Given the description of an element on the screen output the (x, y) to click on. 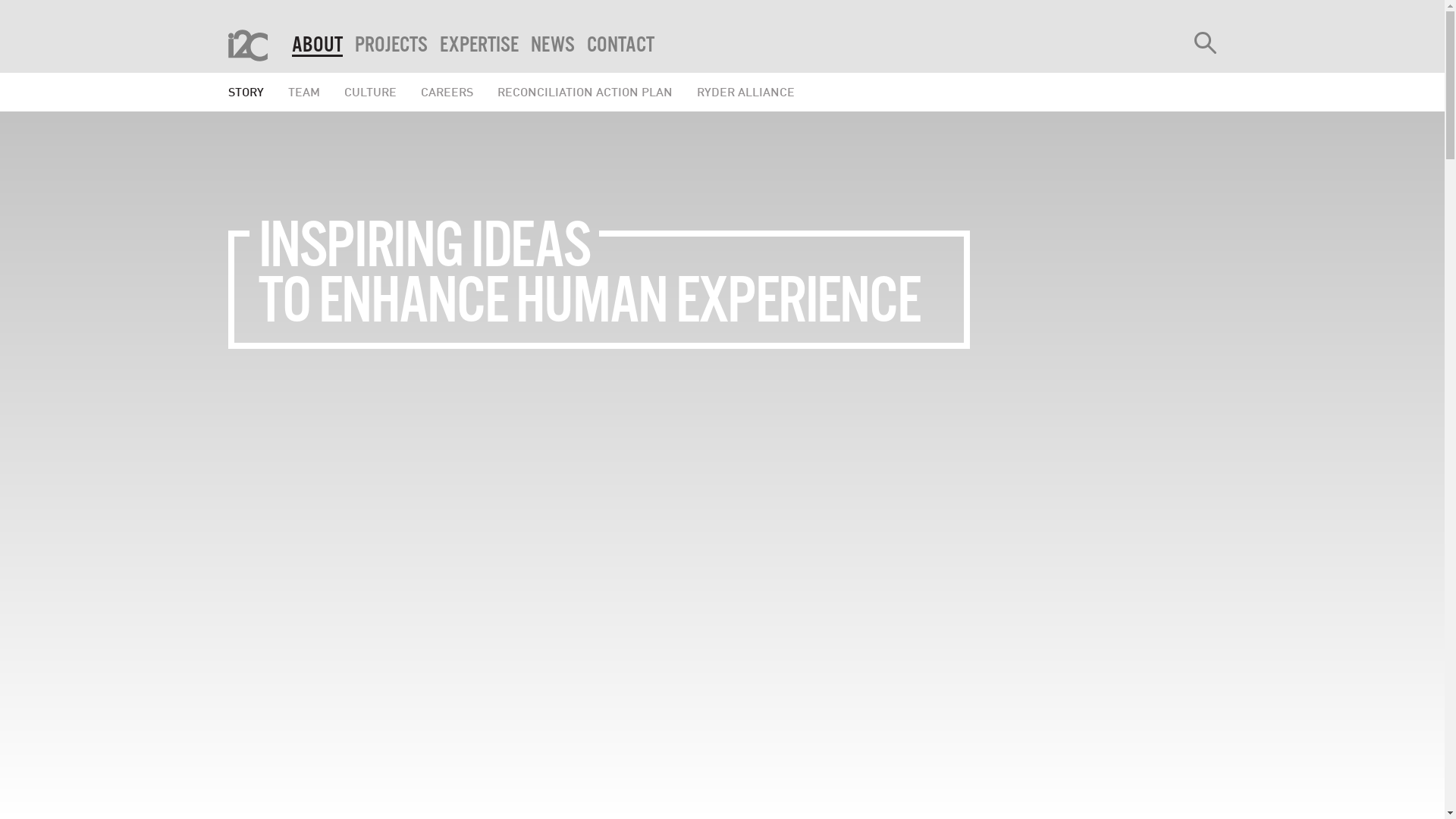
STORY Element type: text (245, 91)
TEAM Element type: text (304, 91)
NEWS Element type: text (552, 45)
CONTACT Element type: text (620, 45)
RECONCILIATION ACTION PLAN Element type: text (584, 91)
CULTURE Element type: text (370, 91)
PROJECTS Element type: text (390, 45)
ABOUT Element type: text (316, 45)
RYDER ALLIANCE Element type: text (744, 91)
EXPERTISE Element type: text (478, 45)
CAREERS Element type: text (446, 91)
